Given the description of an element on the screen output the (x, y) to click on. 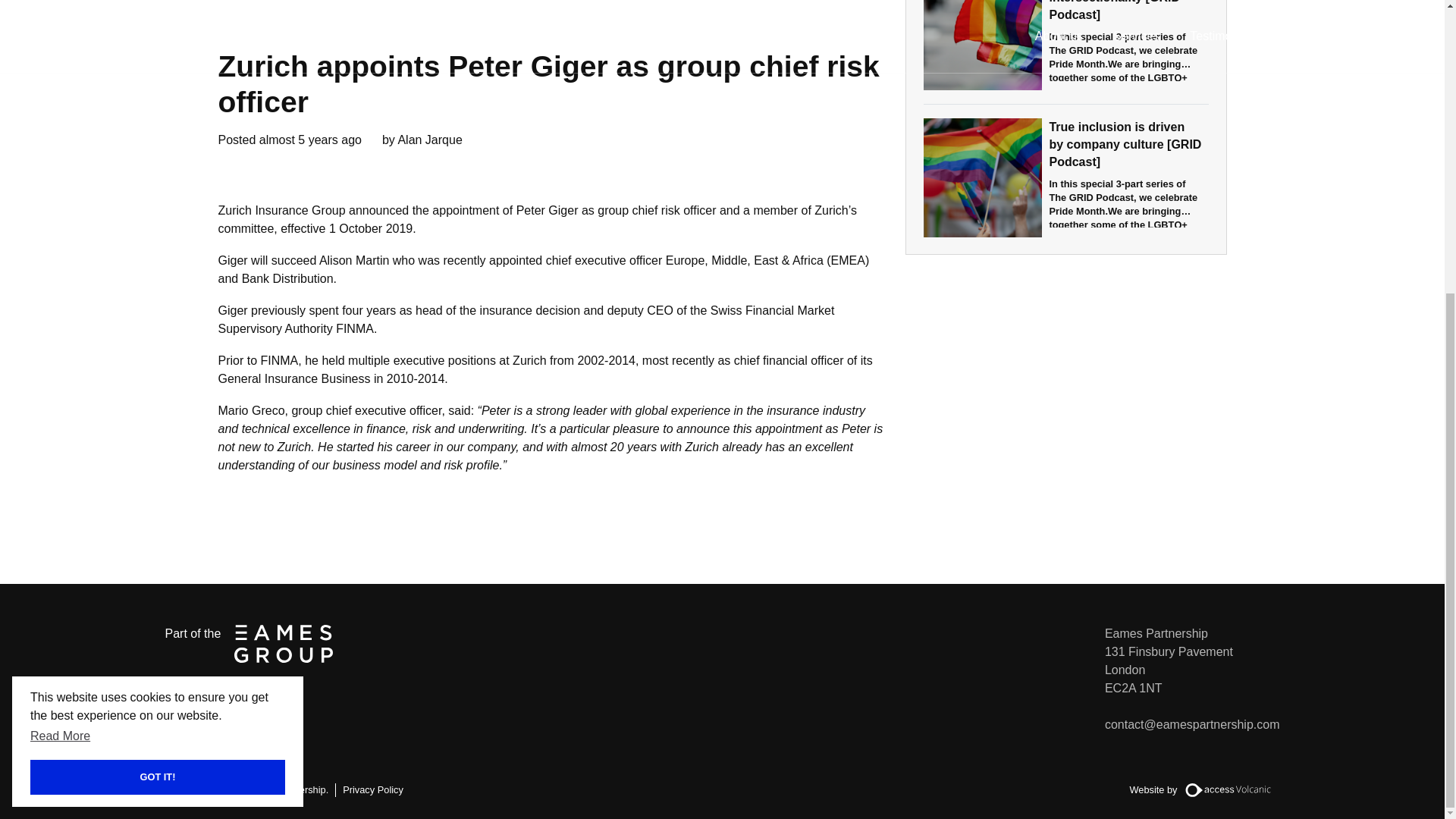
Website by (1204, 789)
Privacy Policy (372, 789)
Read More (60, 286)
Part of the (249, 643)
GOT IT! (116, 327)
